Given the description of an element on the screen output the (x, y) to click on. 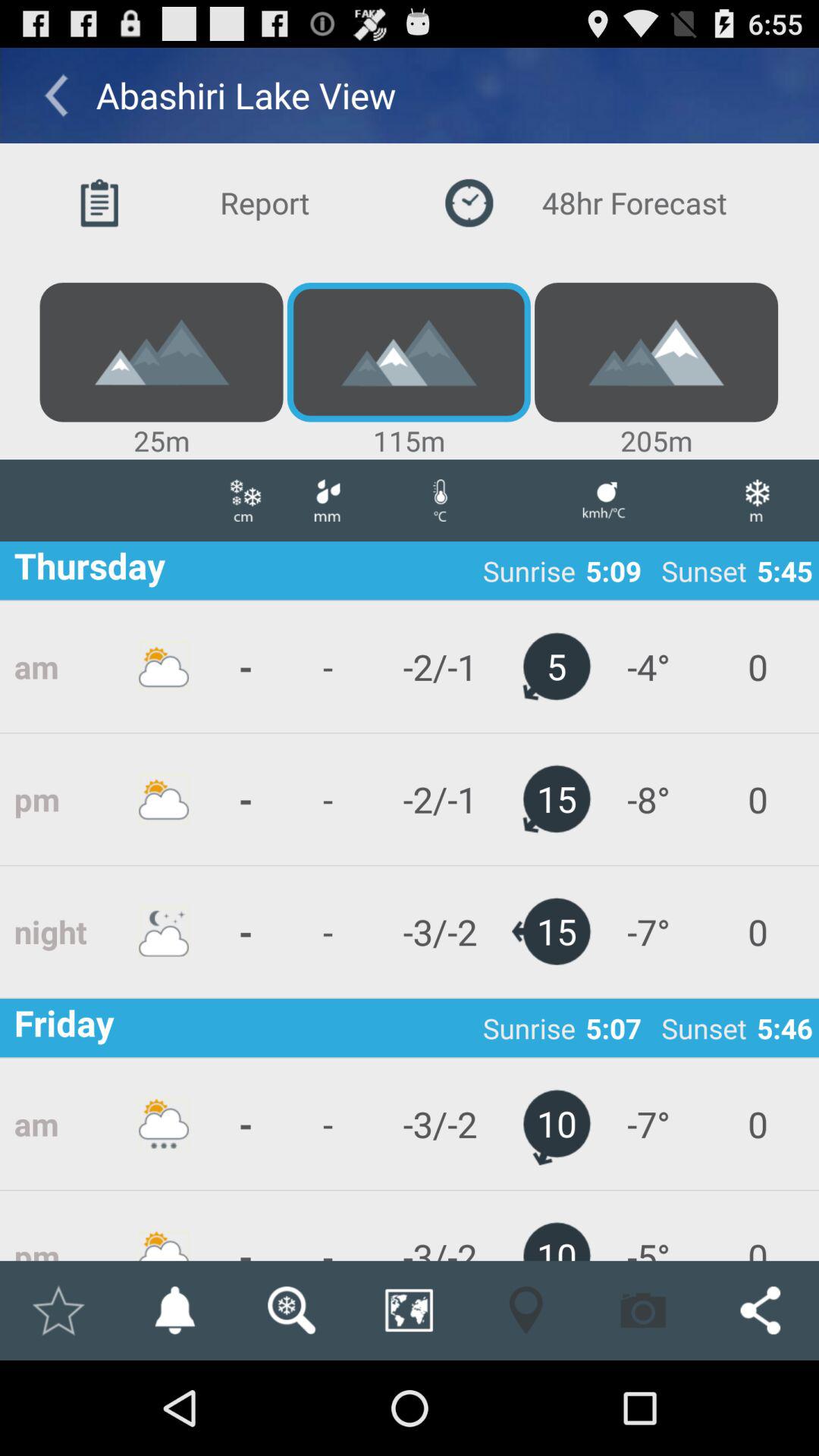
click the - item (327, 1225)
